Given the description of an element on the screen output the (x, y) to click on. 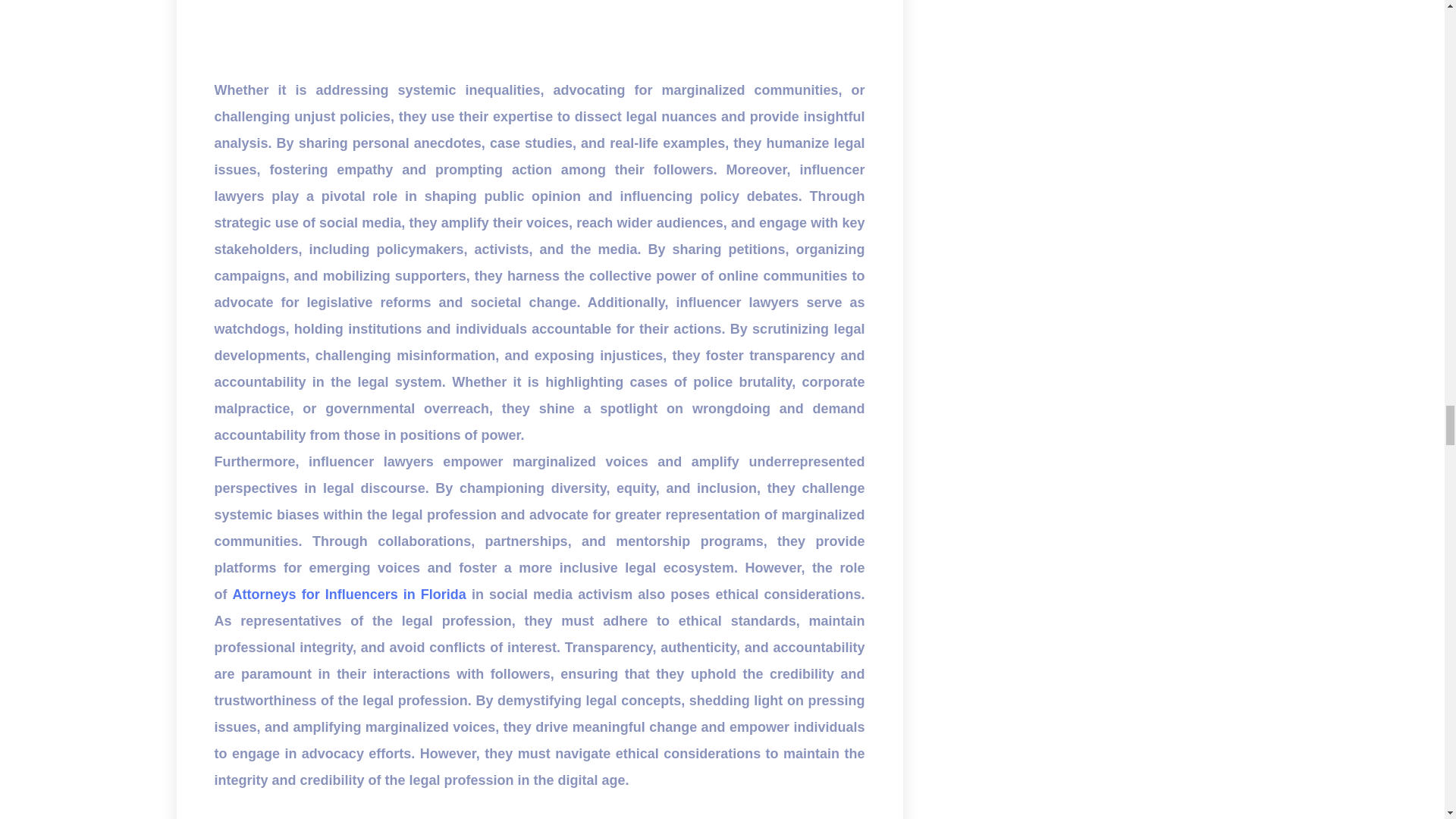
Attorneys for Influencers in Florida (348, 594)
